Given the description of an element on the screen output the (x, y) to click on. 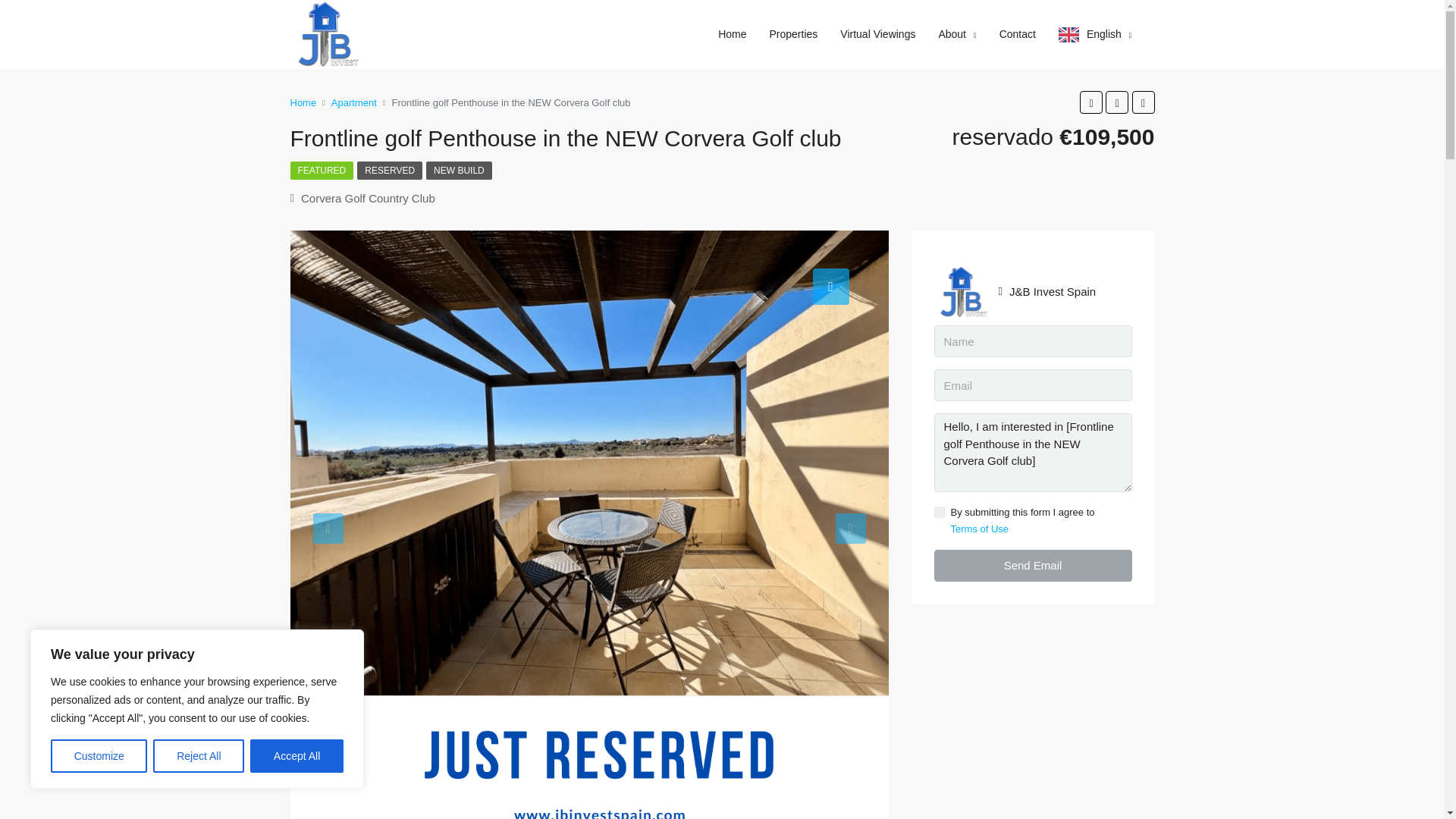
Home (302, 101)
English (1094, 34)
Virtual Viewings (877, 33)
Accept All (296, 756)
Properties (793, 33)
Customize (98, 756)
English (1094, 34)
Reject All (198, 756)
